Given the description of an element on the screen output the (x, y) to click on. 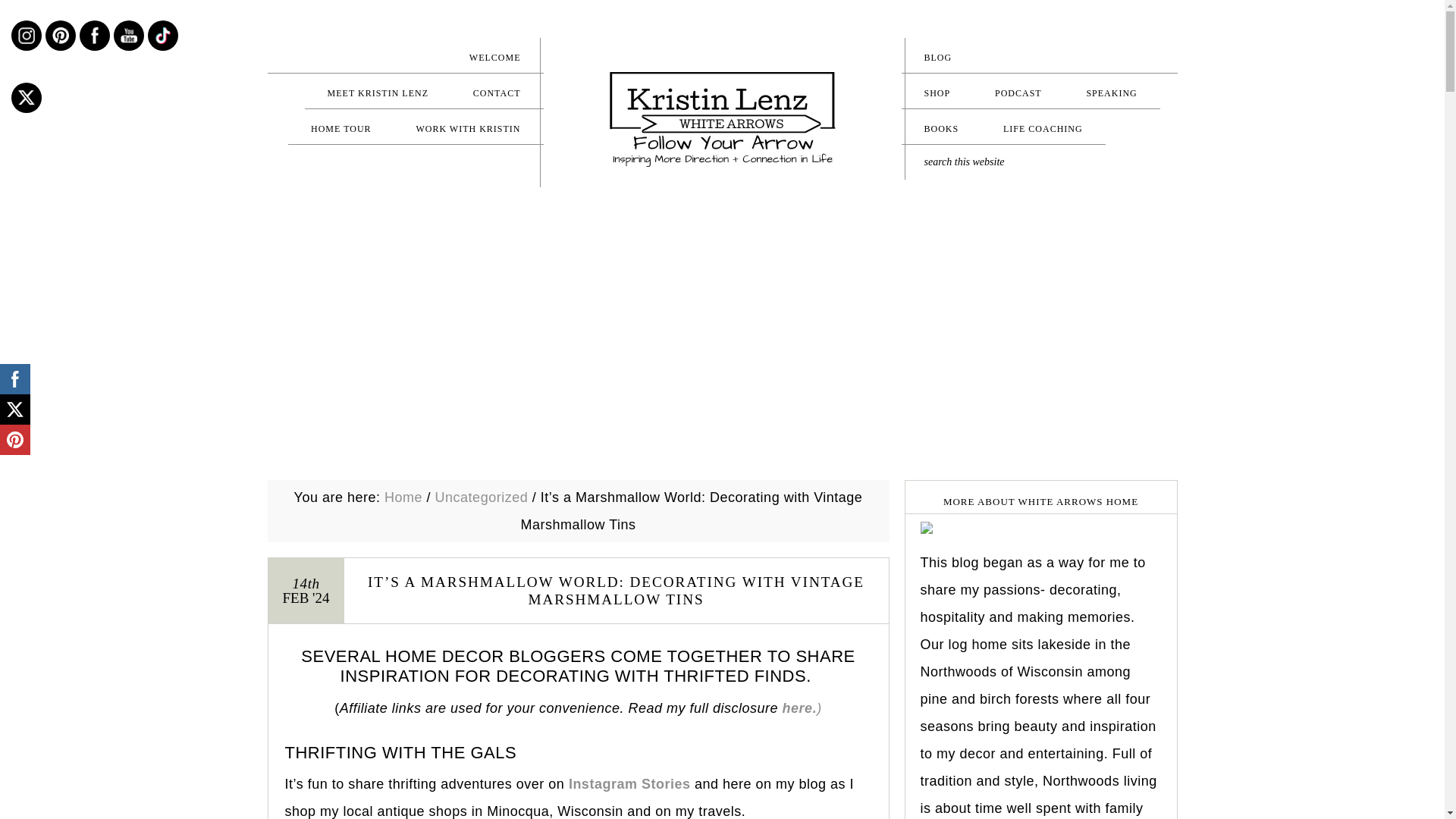
BLOG (1038, 56)
PODCAST (1018, 93)
White Arrows Home (722, 119)
Instagram (25, 35)
MEET KRISTIN LENZ (377, 93)
YouTube (128, 35)
Pinterest (60, 35)
Instagram Stories (629, 783)
SHOP (936, 93)
Home (403, 497)
Facebook (94, 35)
WELCOME (404, 56)
HOME TOUR (341, 128)
